Given the description of an element on the screen output the (x, y) to click on. 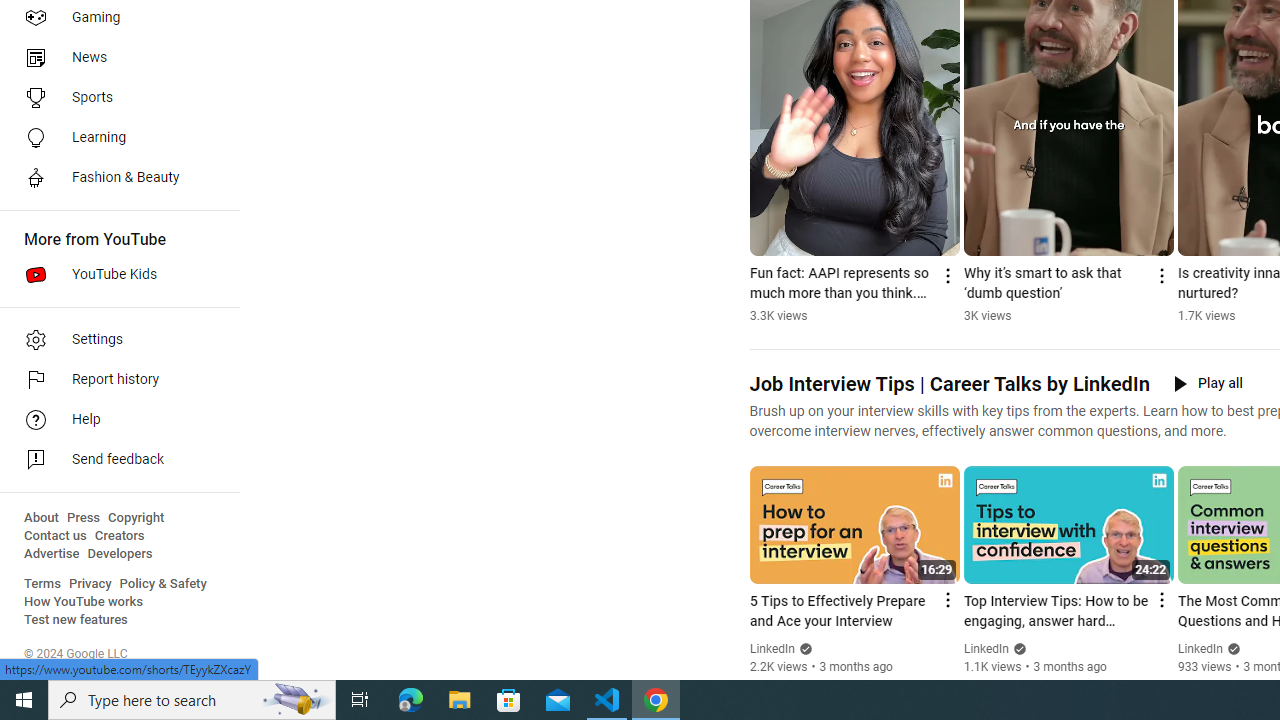
Send feedback (113, 459)
Press (83, 518)
Sports (113, 97)
News (113, 57)
Advertise (51, 554)
More actions (1160, 276)
Verified (1231, 647)
Privacy (89, 584)
Report history (113, 380)
Help (113, 419)
Test new features (76, 620)
Policy & Safety (163, 584)
Play all (1208, 384)
YouTube Kids (113, 274)
